Given the description of an element on the screen output the (x, y) to click on. 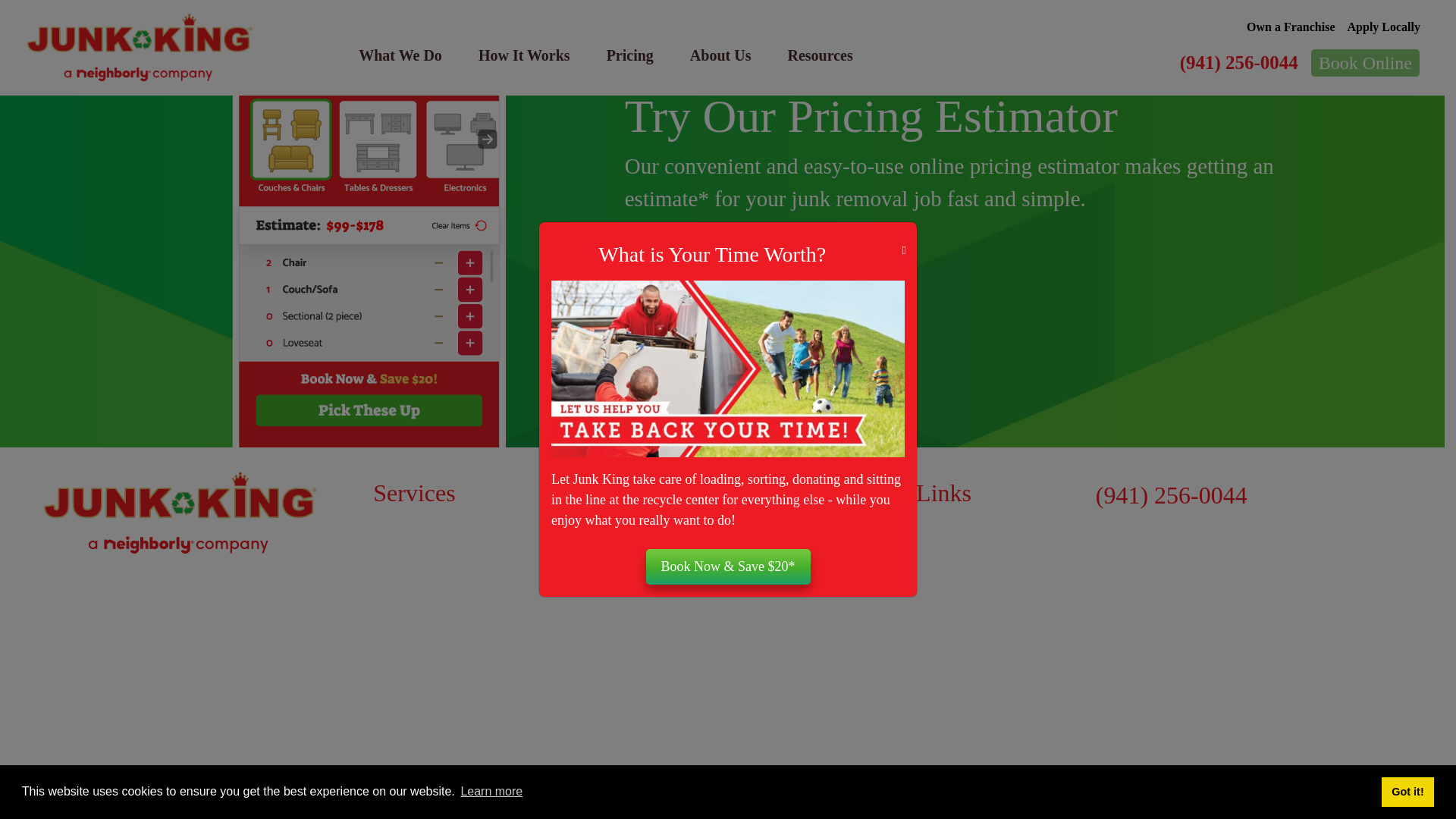
Got it! (1407, 65)
Learn more (491, 65)
